Given the description of an element on the screen output the (x, y) to click on. 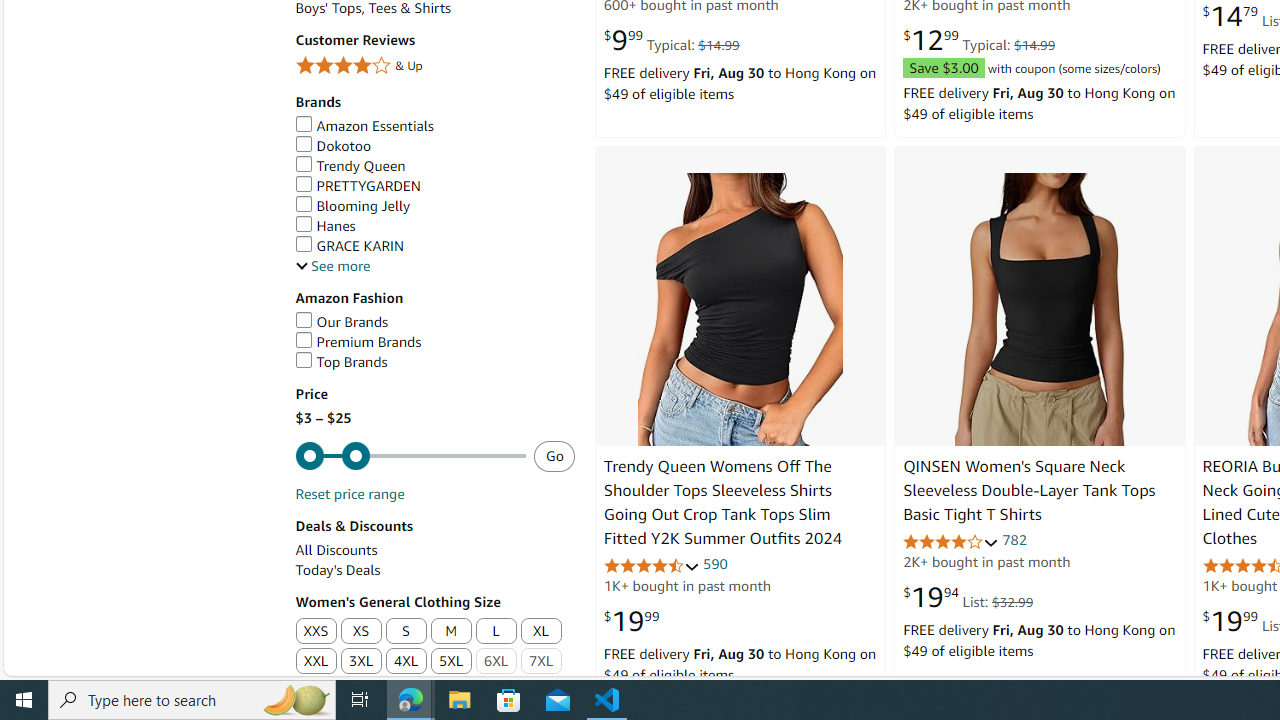
XS (360, 632)
XXL (315, 661)
4XL (406, 661)
XXL (316, 662)
L (495, 631)
M (451, 632)
Blooming Jelly (352, 205)
